Given the description of an element on the screen output the (x, y) to click on. 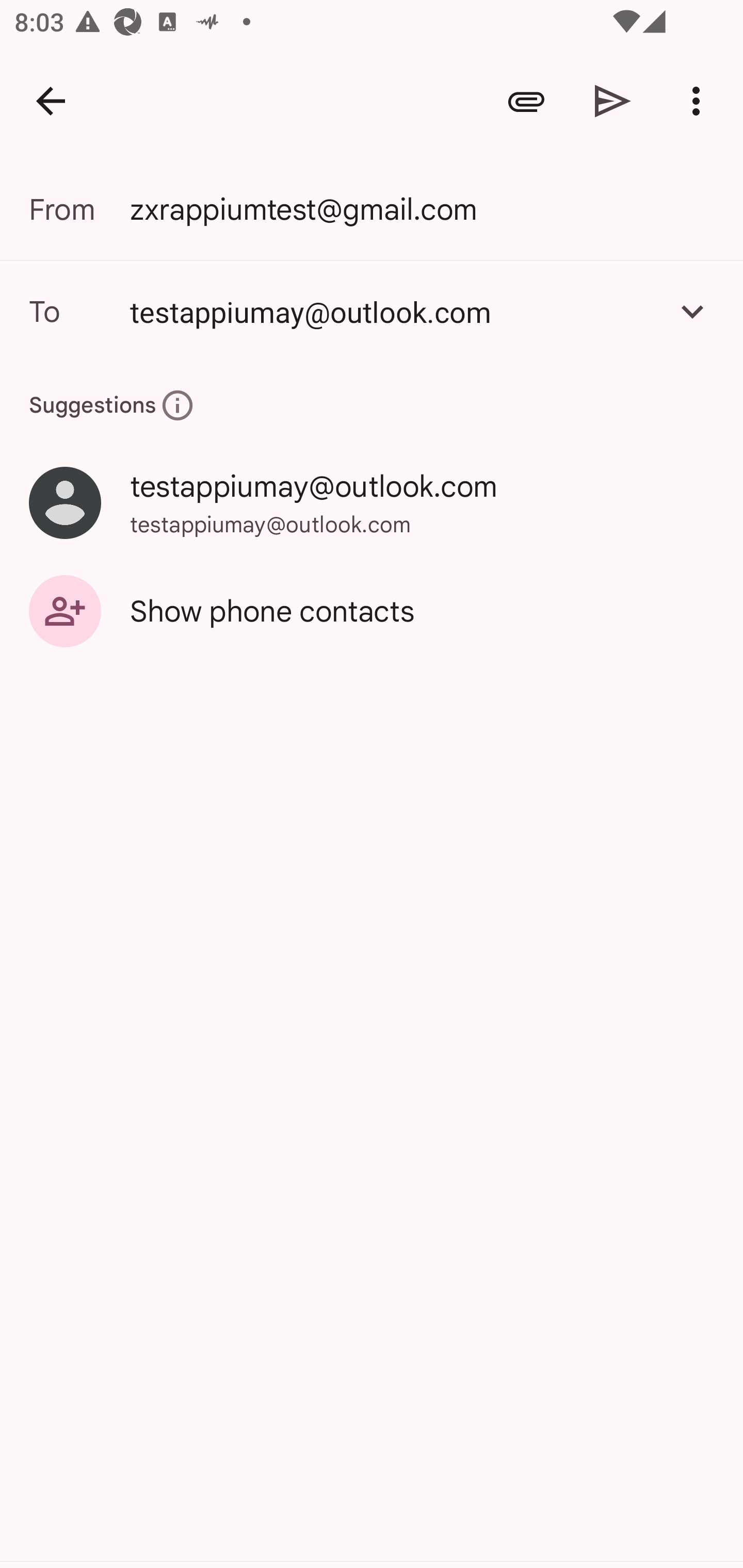
Navigate up (50, 101)
Attach file (525, 101)
Send (612, 101)
More options (699, 101)
From (79, 209)
Add Cc/Bcc (692, 311)
testappiumay@outlook.com (371, 311)
testappiumay@outlook.com (393, 311)
How suggestions work (177, 405)
Show phone contacts (371, 610)
